Given the description of an element on the screen output the (x, y) to click on. 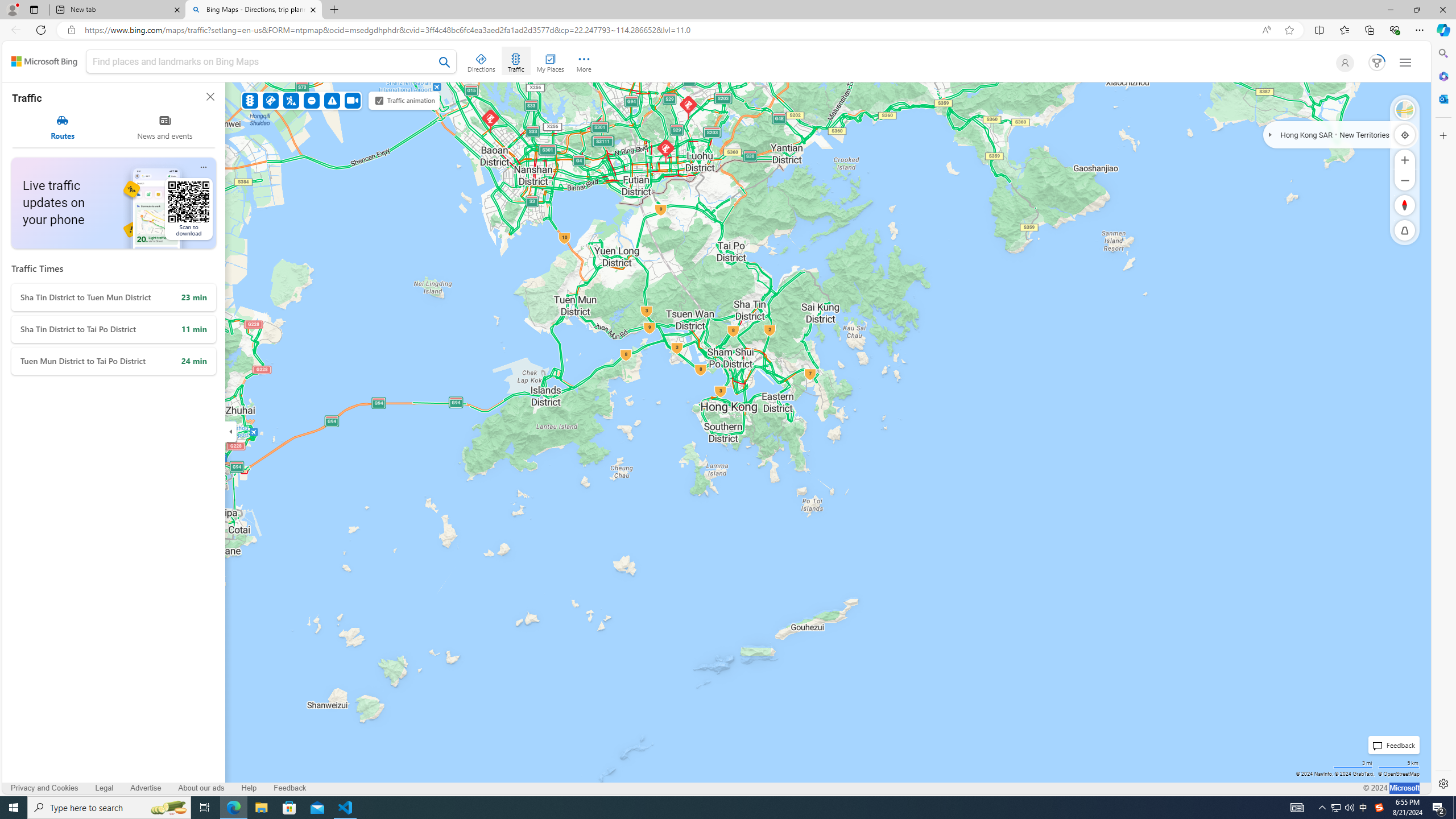
Sha Tin District to Tuen Mun District (113, 297)
Back to Bing search (44, 60)
Directions (481, 60)
Reset to Default Pitch (1404, 230)
Tuen Mun District to Tai Po District (113, 361)
Routes (62, 127)
More (583, 60)
Road Closures (312, 100)
